Given the description of an element on the screen output the (x, y) to click on. 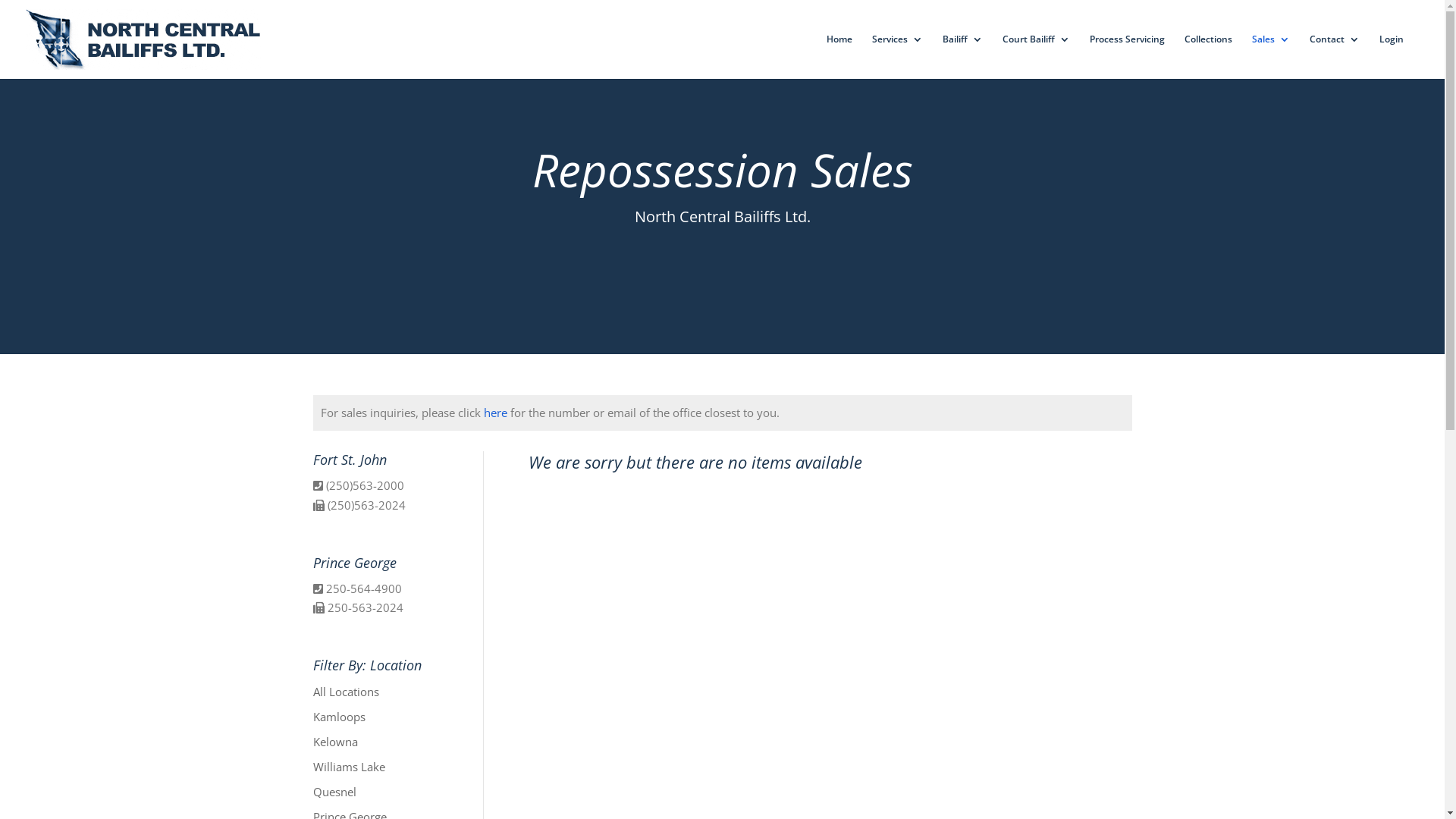
Process Servicing Element type: text (1126, 56)
Court Bailiff Element type: text (1036, 56)
Collections Element type: text (1208, 56)
Contact Element type: text (1334, 56)
Sales Element type: text (1270, 56)
Kelowna Element type: text (334, 741)
Quesnel Element type: text (333, 791)
All Locations Element type: text (345, 691)
Williams Lake Element type: text (348, 765)
Services Element type: text (897, 56)
Home Element type: text (839, 56)
Bailiff Element type: text (962, 56)
Login Element type: text (1391, 56)
here Element type: text (495, 412)
Kamloops Element type: text (338, 715)
